Given the description of an element on the screen output the (x, y) to click on. 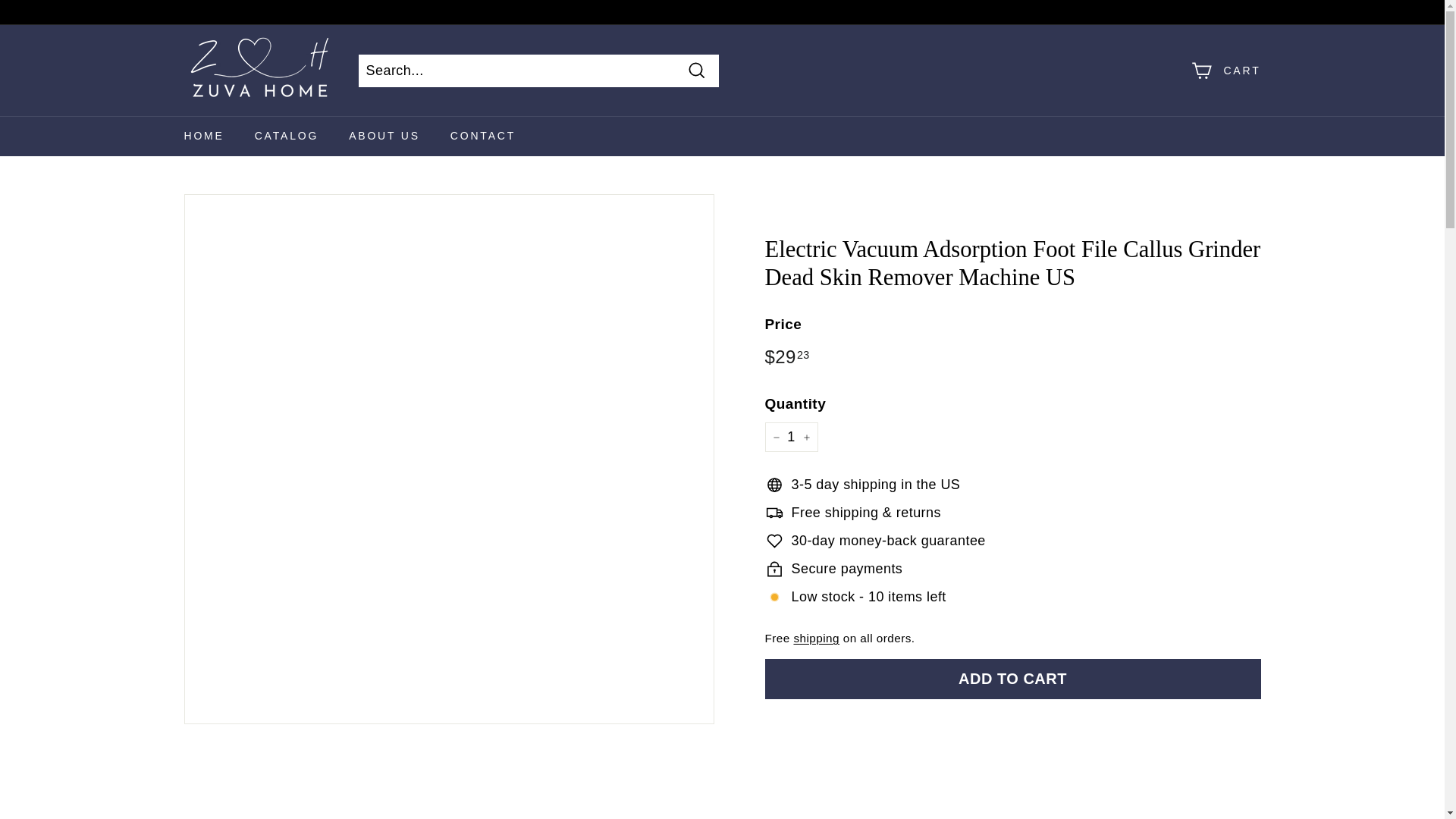
1 (790, 437)
CATALOG (286, 136)
CONTACT (483, 136)
ABOUT US (384, 136)
HOME (203, 136)
